Given the description of an element on the screen output the (x, y) to click on. 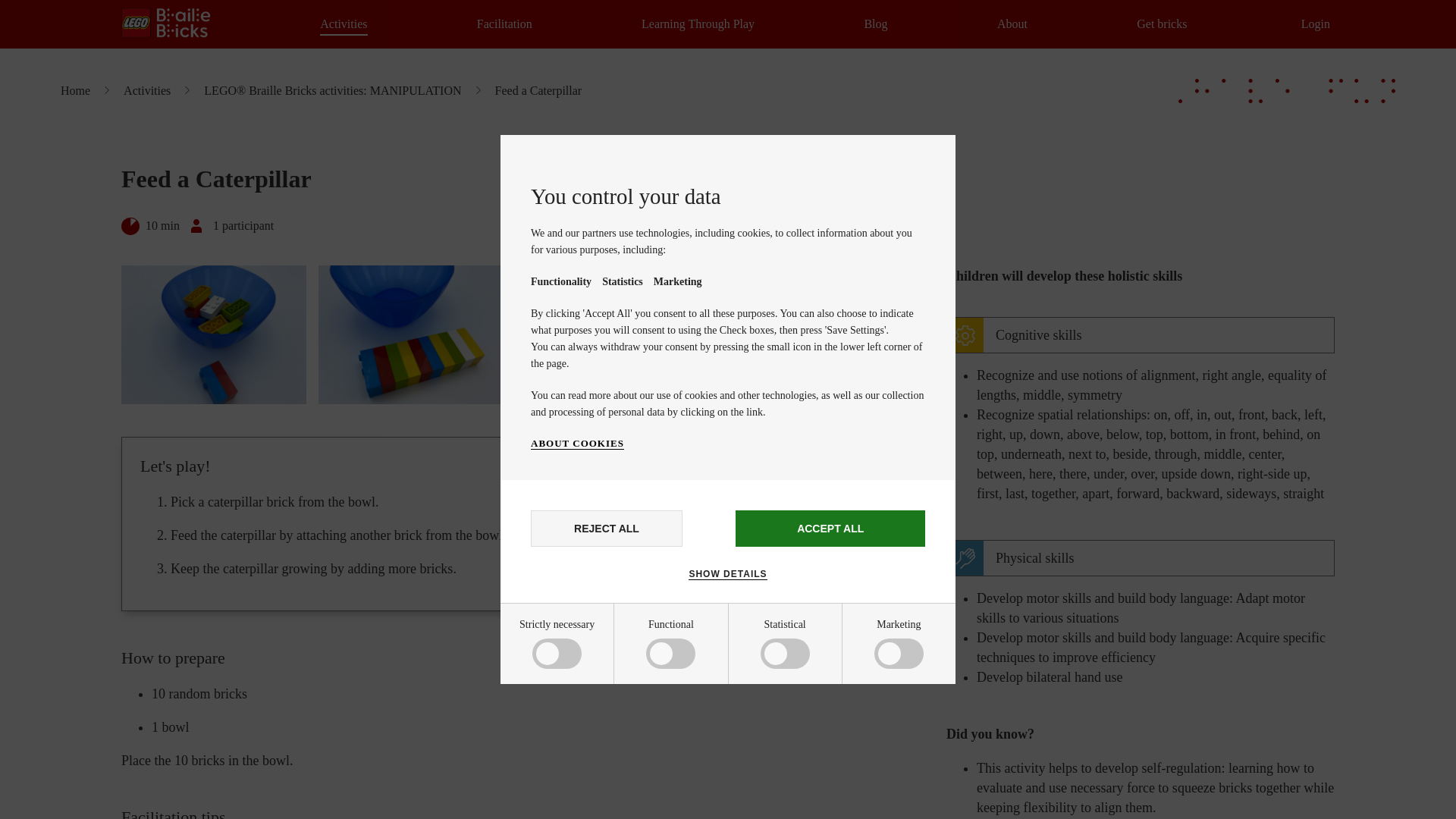
Strictly necessary (585, 657)
ACCEPT ALL (829, 528)
Marketing (585, 809)
Activities (343, 24)
ABOUT COOKIES (577, 443)
Learning Through Play (698, 24)
REJECT ALL (606, 528)
SHOW DETAILS (727, 573)
About (1012, 24)
Facilitation (504, 24)
Blog (874, 24)
Functional (585, 714)
Statistical (585, 766)
